Given the description of an element on the screen output the (x, y) to click on. 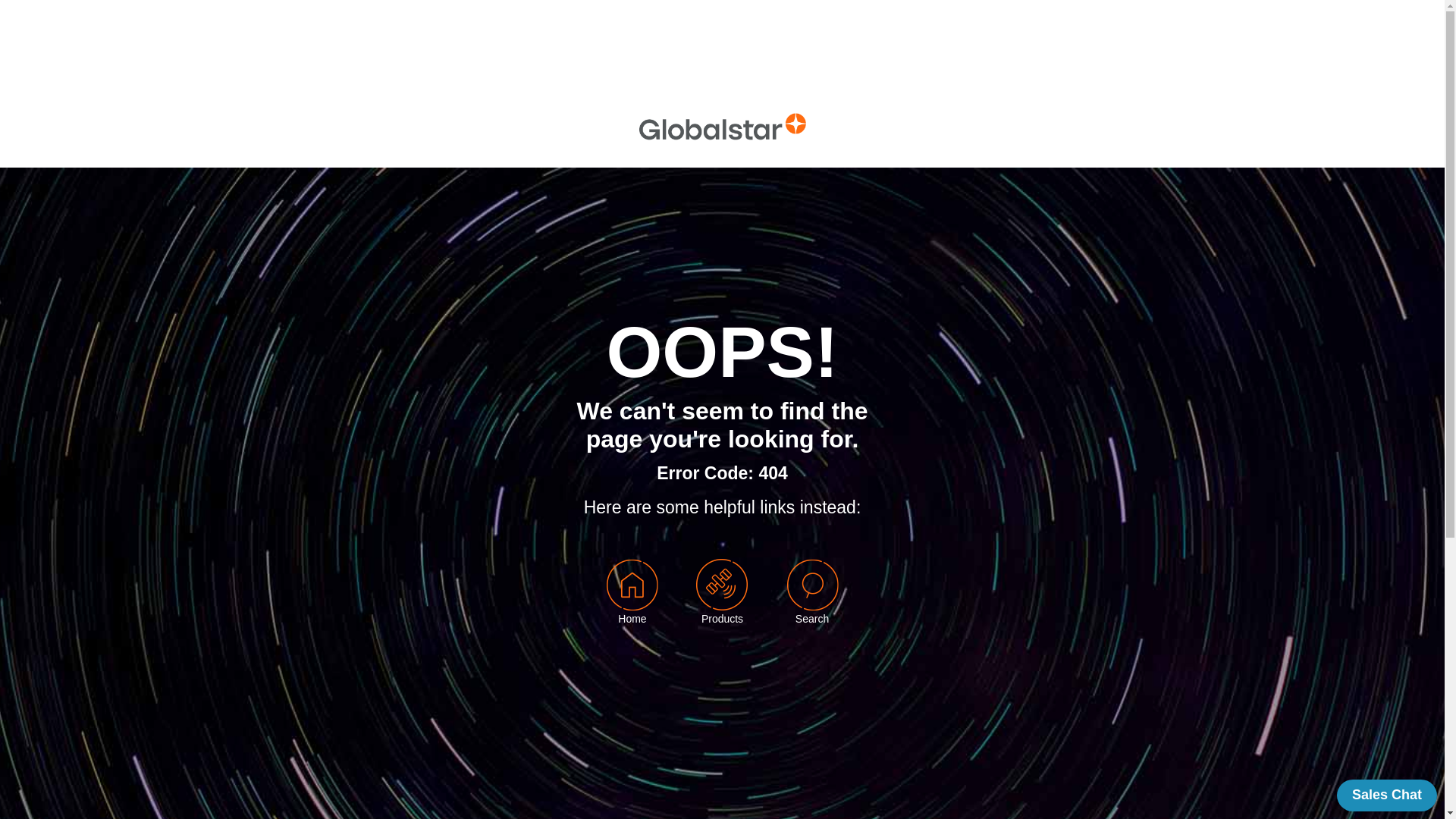
Home (631, 618)
Search (813, 601)
Products (722, 601)
